Given the description of an element on the screen output the (x, y) to click on. 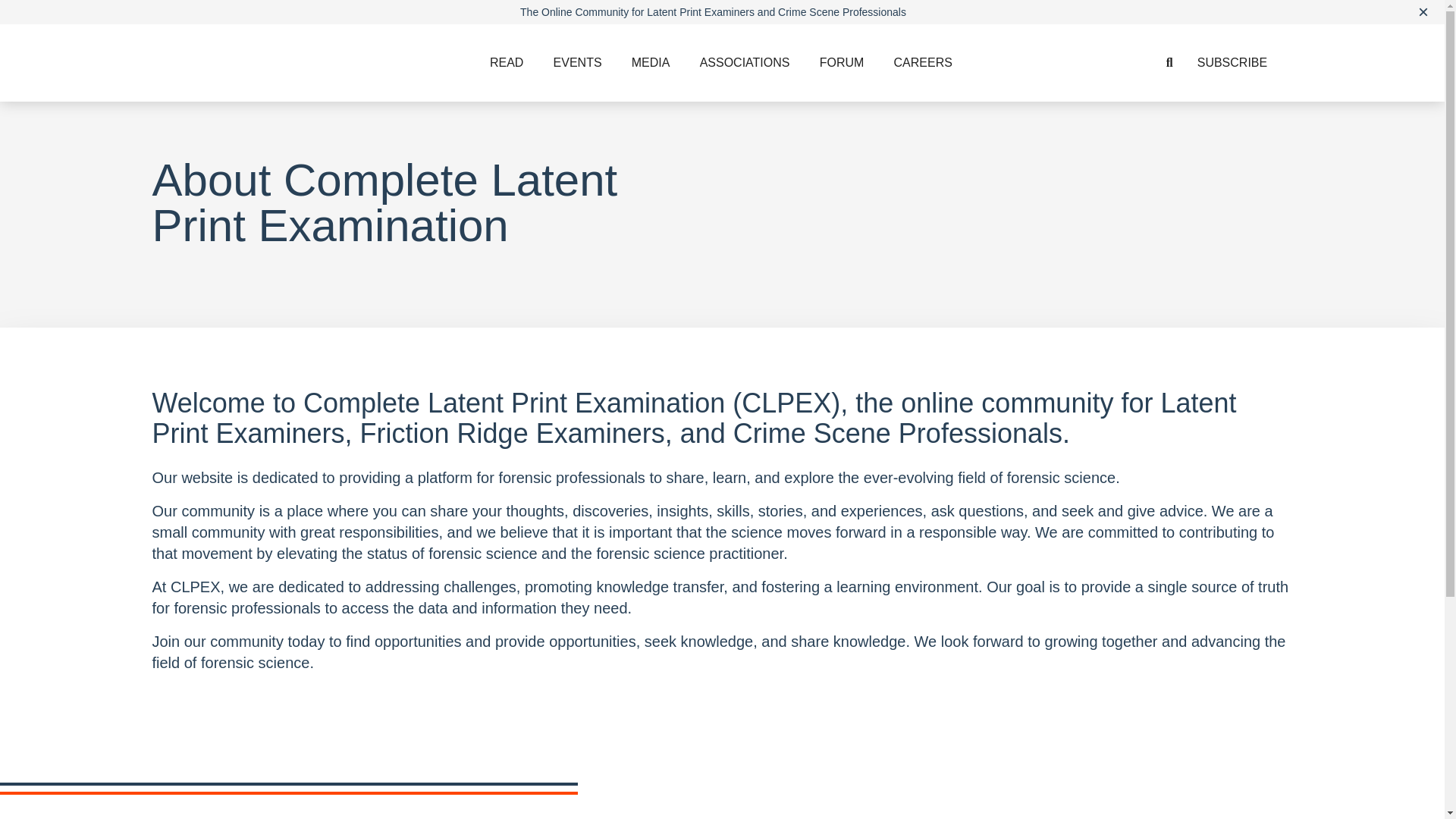
EVENTS (577, 62)
FORUM (841, 62)
READ (506, 62)
ASSOCIATIONS (744, 62)
SUBSCRIBE (1232, 62)
MEDIA (650, 62)
CAREERS (923, 62)
